Given the description of an element on the screen output the (x, y) to click on. 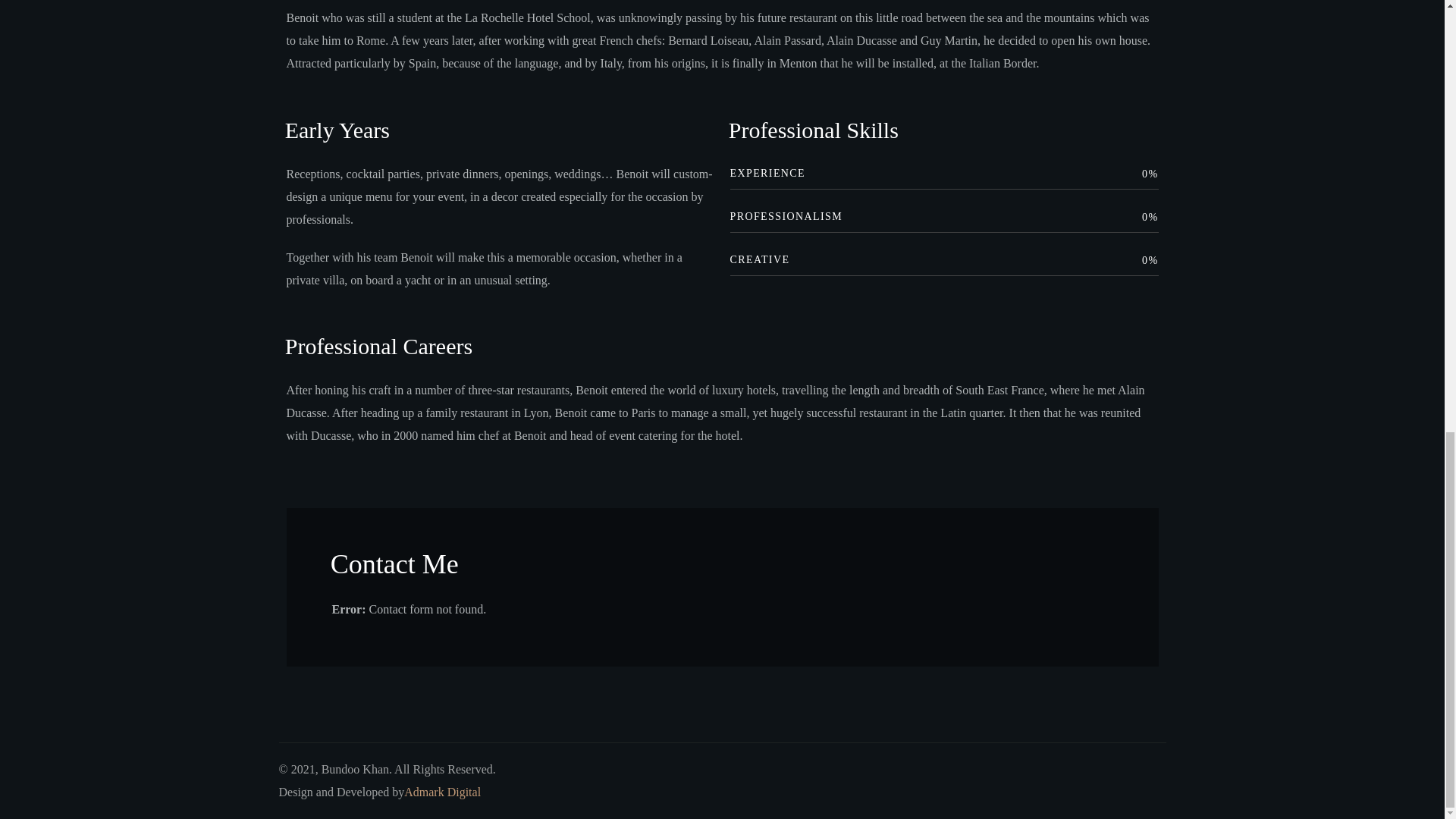
Admark Digital (442, 791)
